Given the description of an element on the screen output the (x, y) to click on. 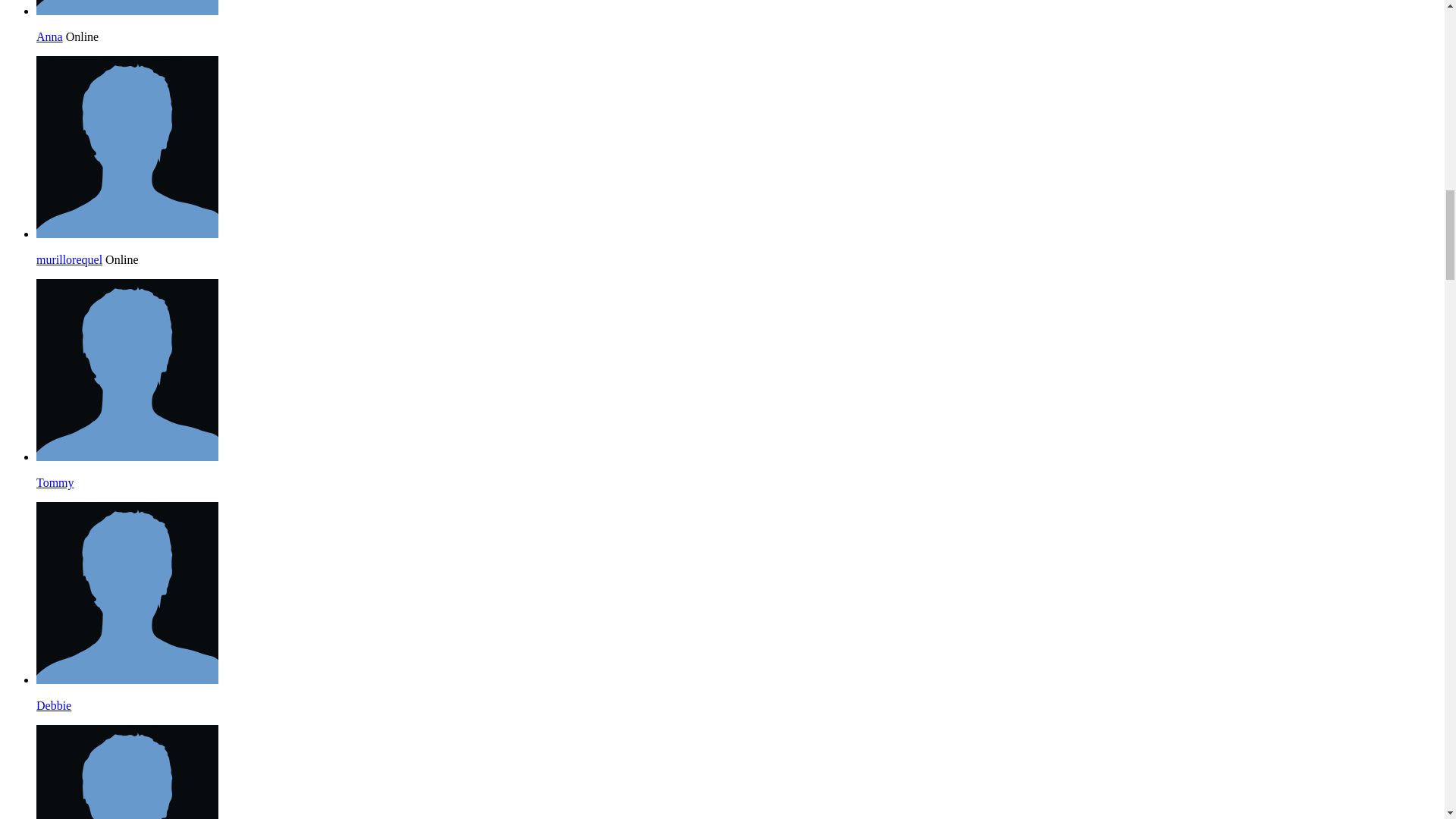
Anna (127, 10)
Debbie (127, 679)
Tommy (127, 456)
murillorequel (68, 259)
Debbie (53, 705)
Tommy (55, 481)
murillorequel (127, 233)
Anna (49, 36)
